Given the description of an element on the screen output the (x, y) to click on. 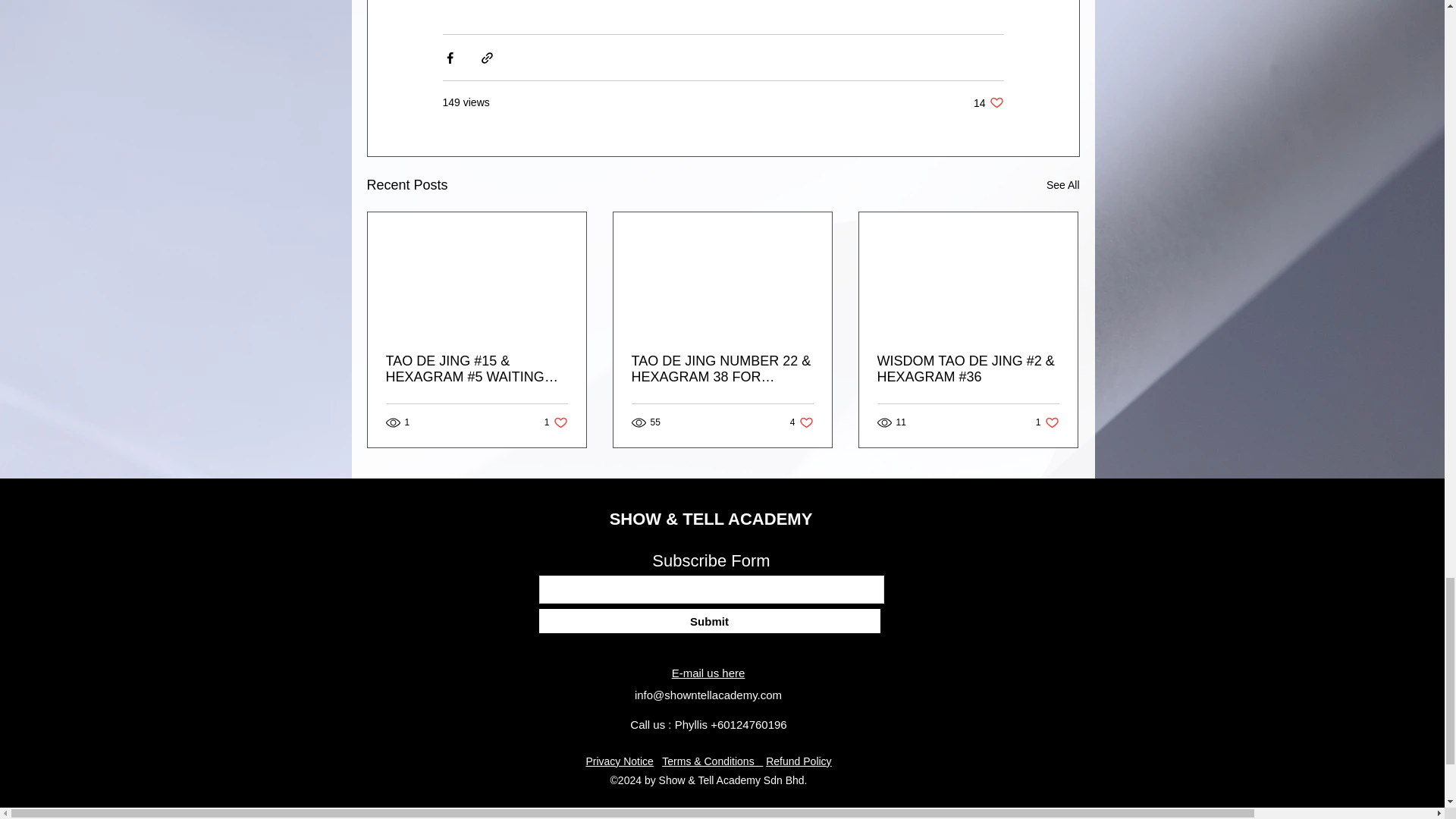
See All (555, 422)
